Given the description of an element on the screen output the (x, y) to click on. 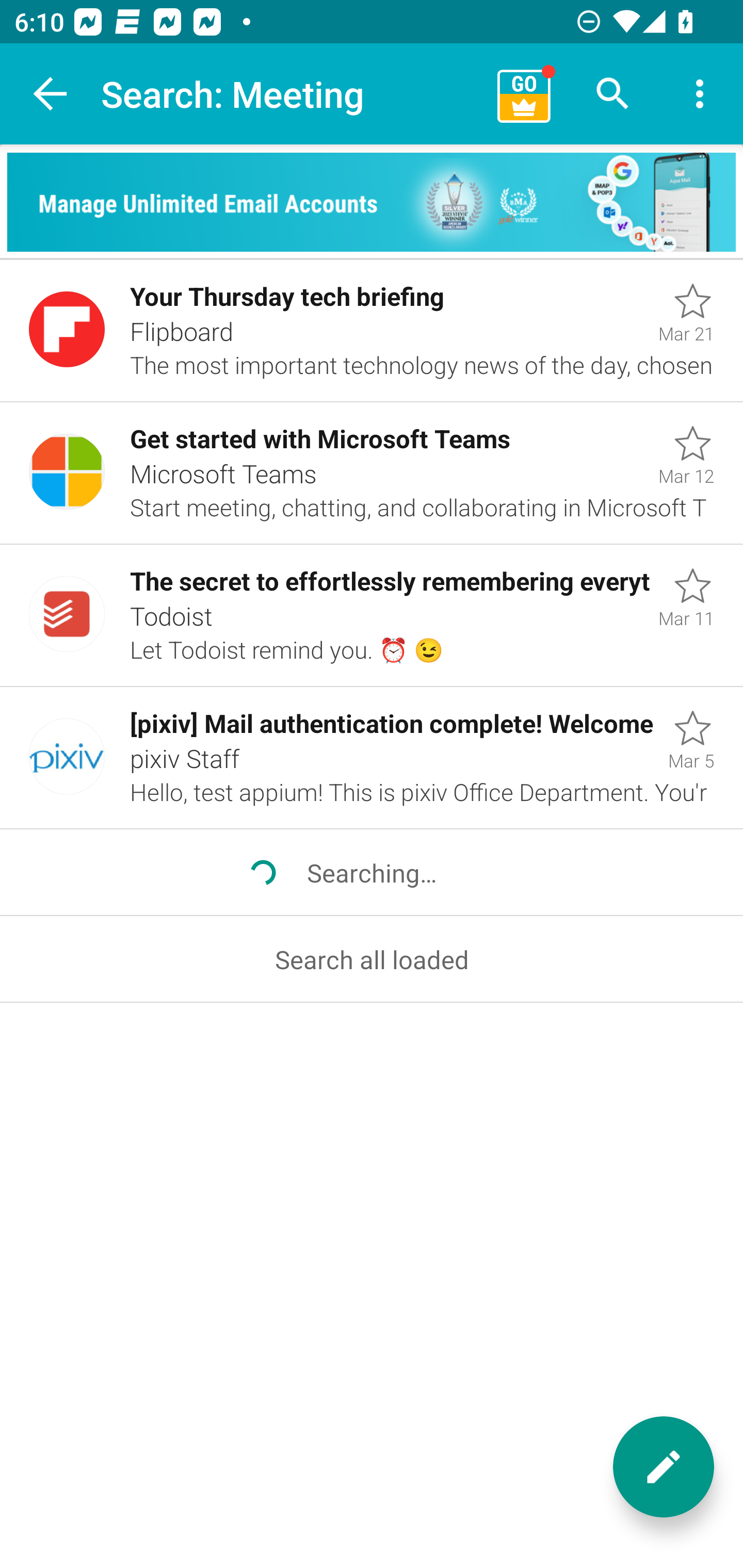
Navigate up (50, 93)
Search (612, 93)
More options (699, 93)
Searching… (371, 872)
Search all loaded (371, 958)
New message (663, 1466)
